Given the description of an element on the screen output the (x, y) to click on. 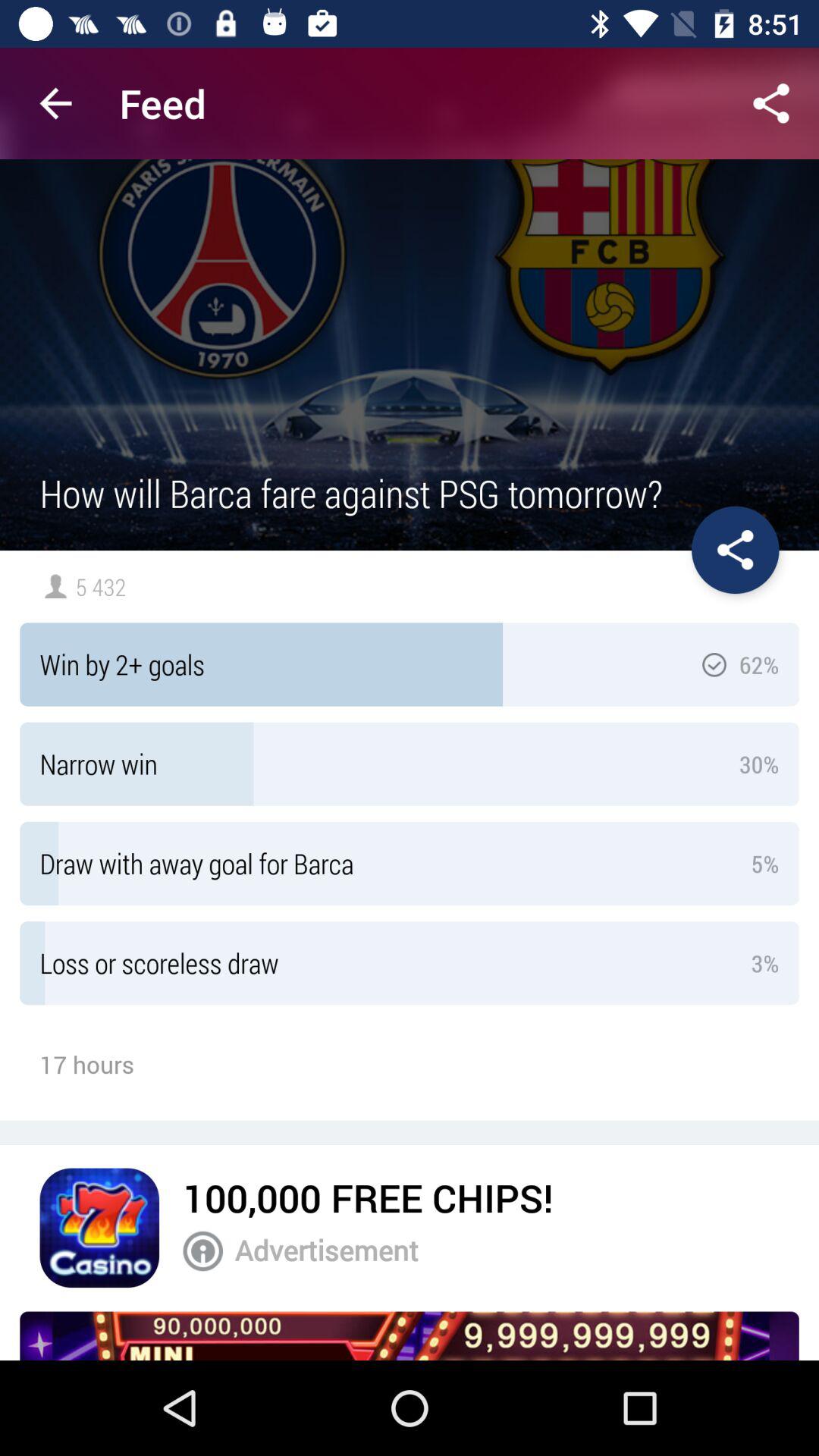
click advertisement (506, 1249)
